Given the description of an element on the screen output the (x, y) to click on. 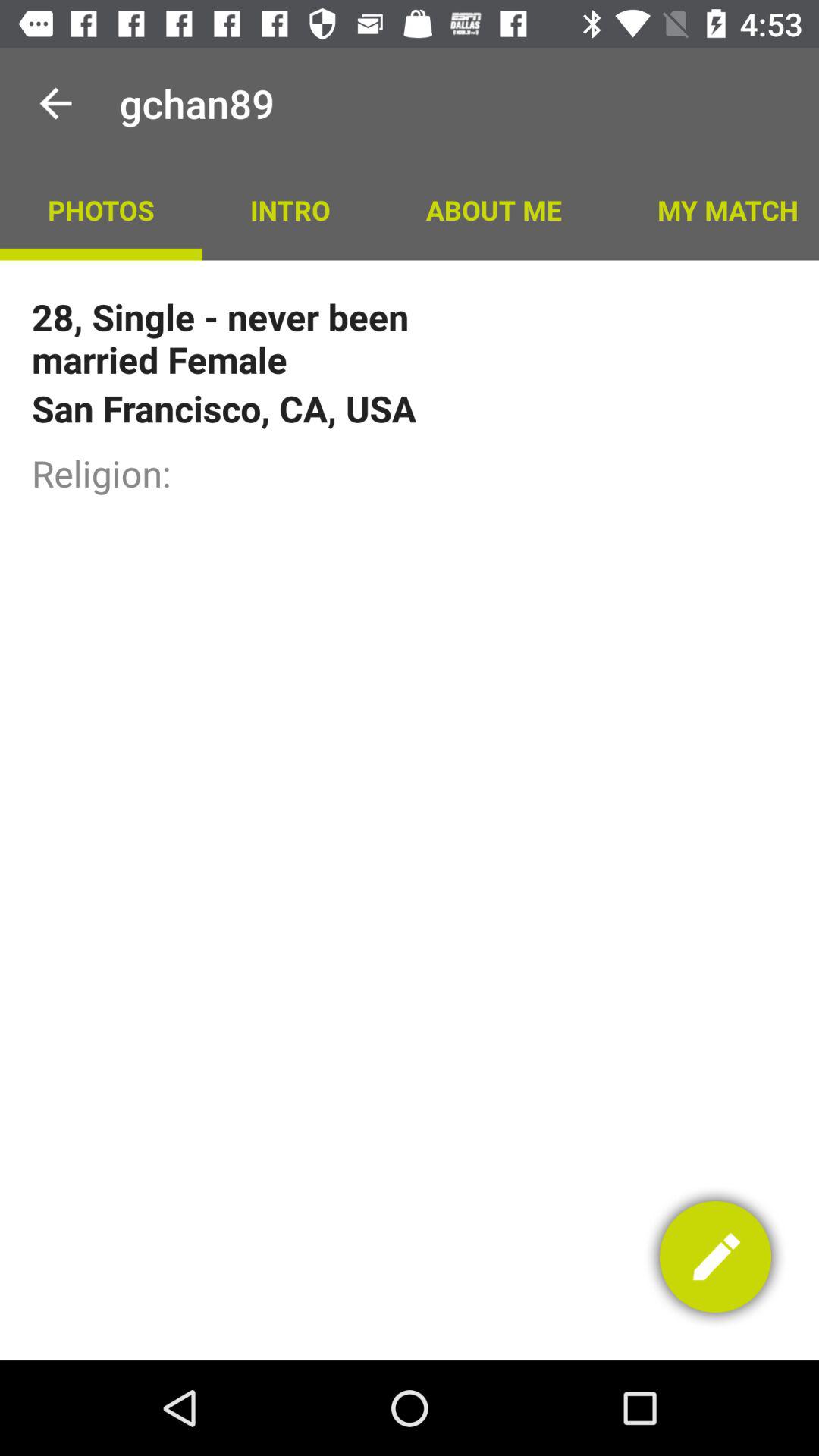
click app below my match icon (715, 1256)
